Given the description of an element on the screen output the (x, y) to click on. 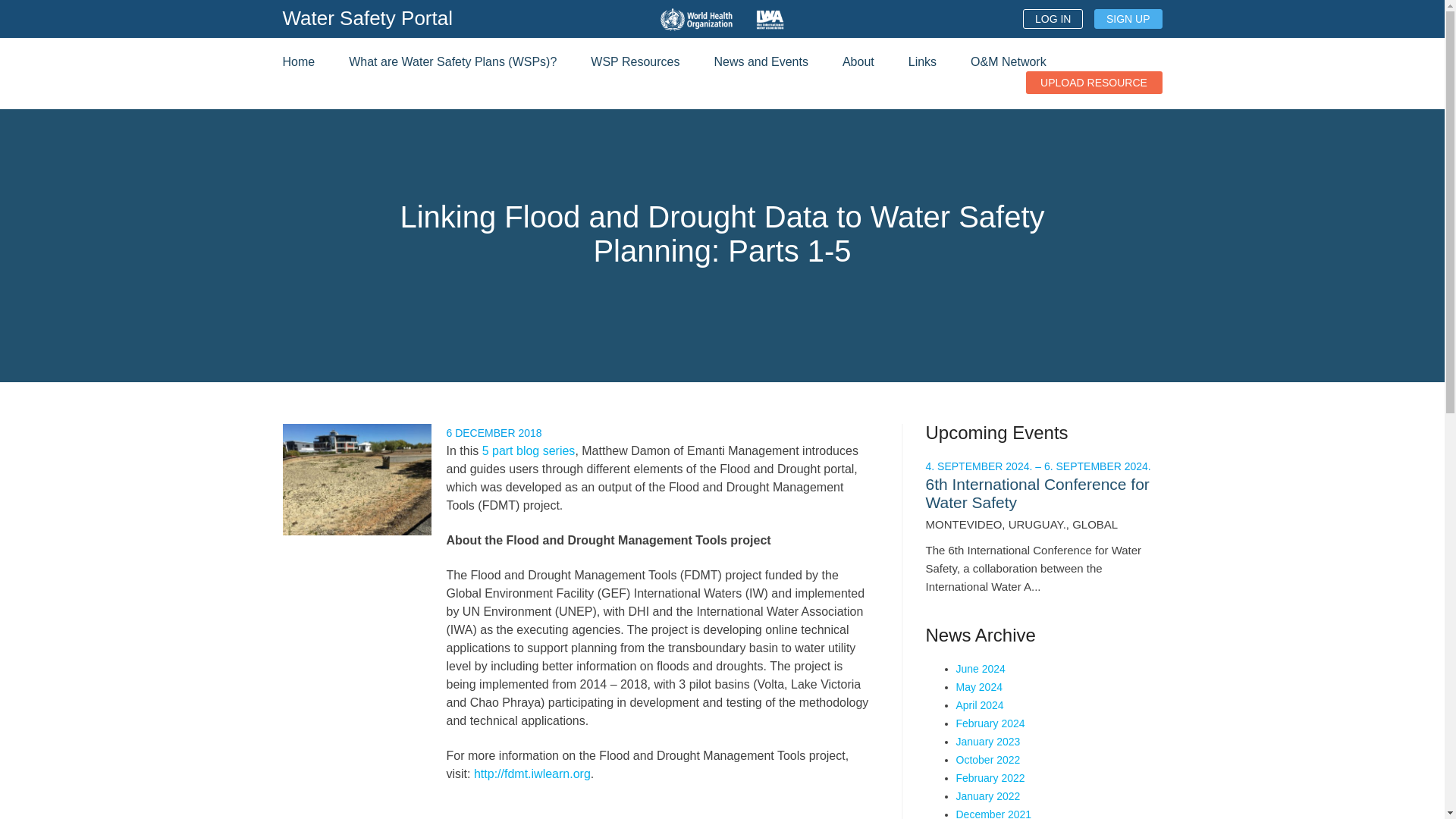
October 2022 (987, 759)
December 2021 (992, 813)
5 part blog series (527, 450)
LOG IN (1053, 18)
January 2022 (987, 796)
WSP Resources (635, 61)
SIGN UP (1127, 18)
News and Events (760, 61)
January 2023 (987, 741)
Links (922, 61)
UPLOAD RESOURCE (1093, 82)
February 2022 (990, 777)
February 2024 (990, 723)
May 2024 (978, 686)
April 2024 (979, 705)
